Given the description of an element on the screen output the (x, y) to click on. 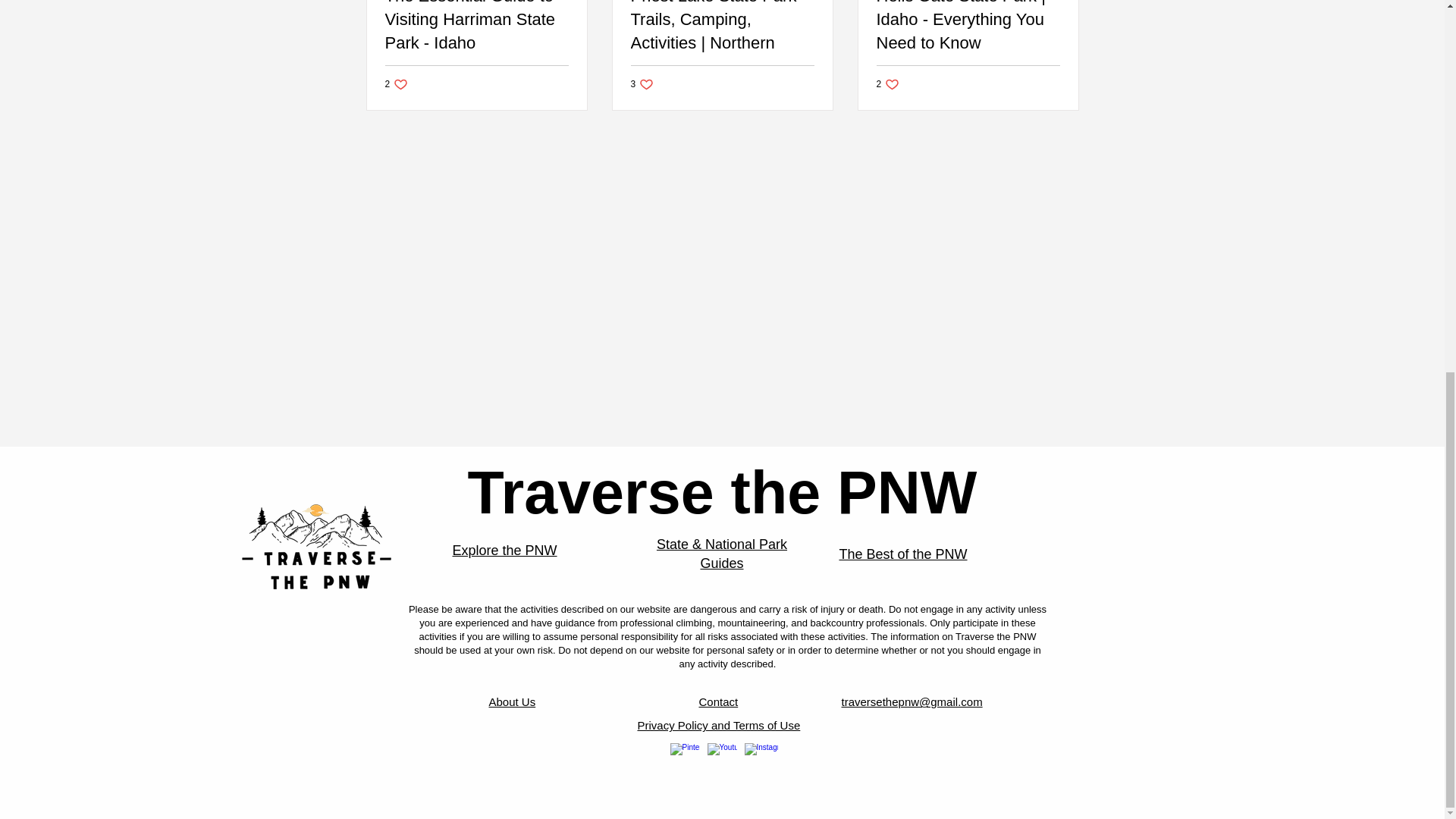
About Us (511, 701)
Explore the PNW (503, 549)
Privacy Policy and Terms of Use (718, 725)
The Best of the PNW (902, 554)
Contact (718, 701)
The Essential Guide to Visiting Harriman State Park - Idaho (477, 27)
